Given the description of an element on the screen output the (x, y) to click on. 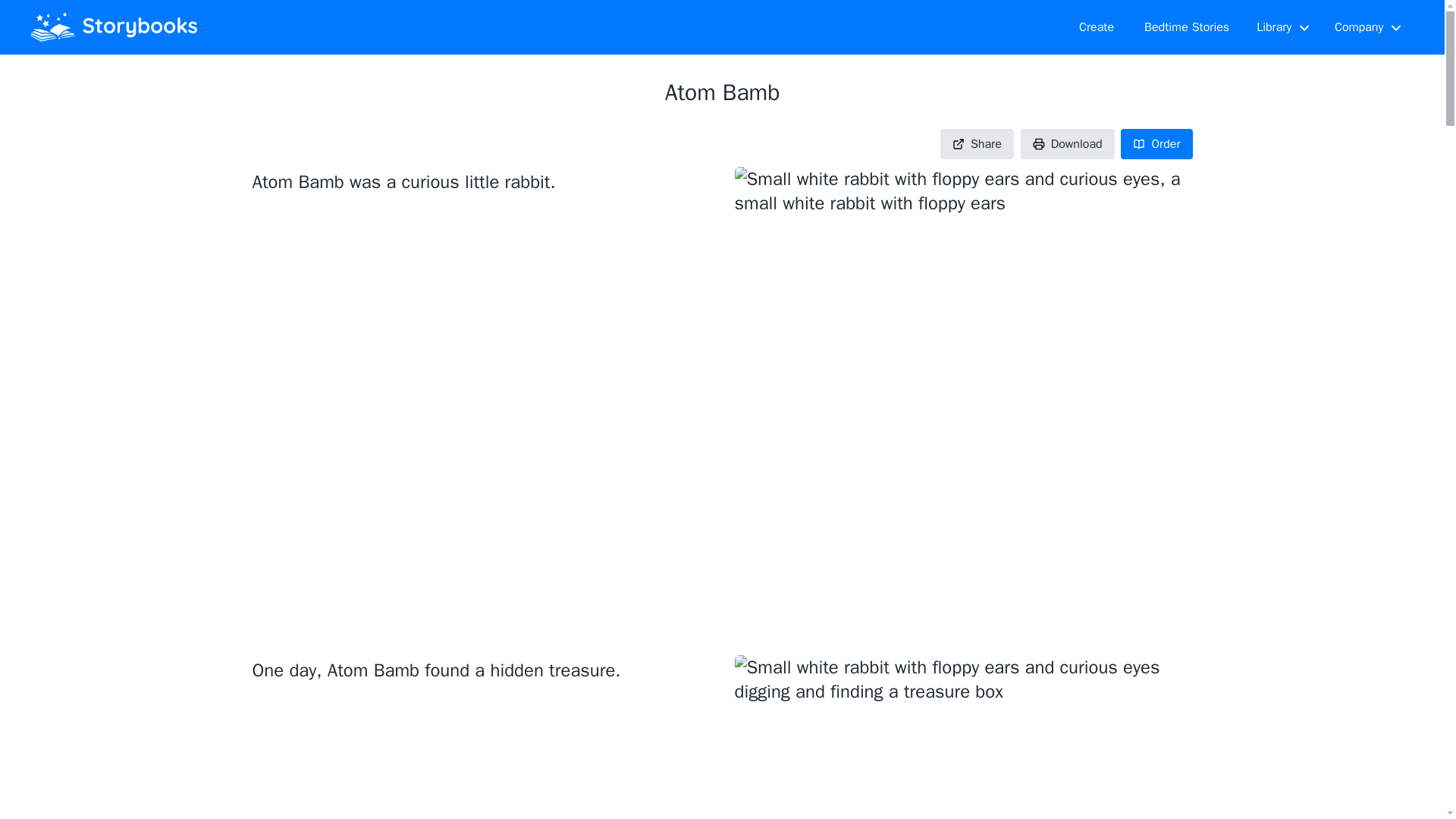
Order (1156, 143)
Bedtime Stories (1187, 27)
Download (1067, 143)
Library (1283, 27)
Company (1367, 27)
Create (1096, 27)
Share (976, 143)
